Given the description of an element on the screen output the (x, y) to click on. 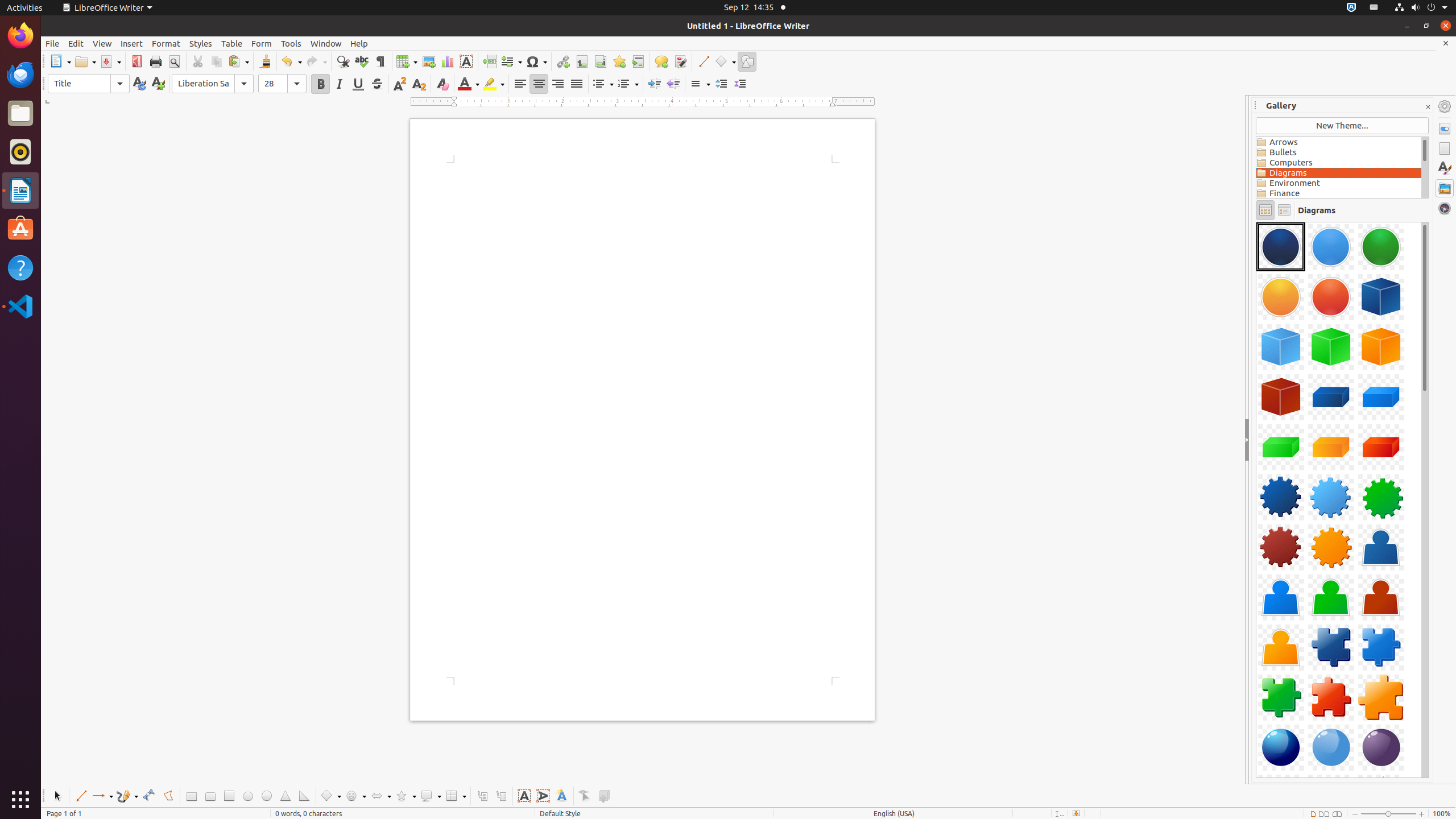
Open Element type: push-button (84, 61)
Component-Person02-Blue Element type: list-item (1280, 596)
Increase Element type: push-button (721, 83)
Component-Gear01-DarkBlue Element type: list-item (1280, 496)
Component-Sphere05-Orange Element type: list-item (1256, 222)
